Given the description of an element on the screen output the (x, y) to click on. 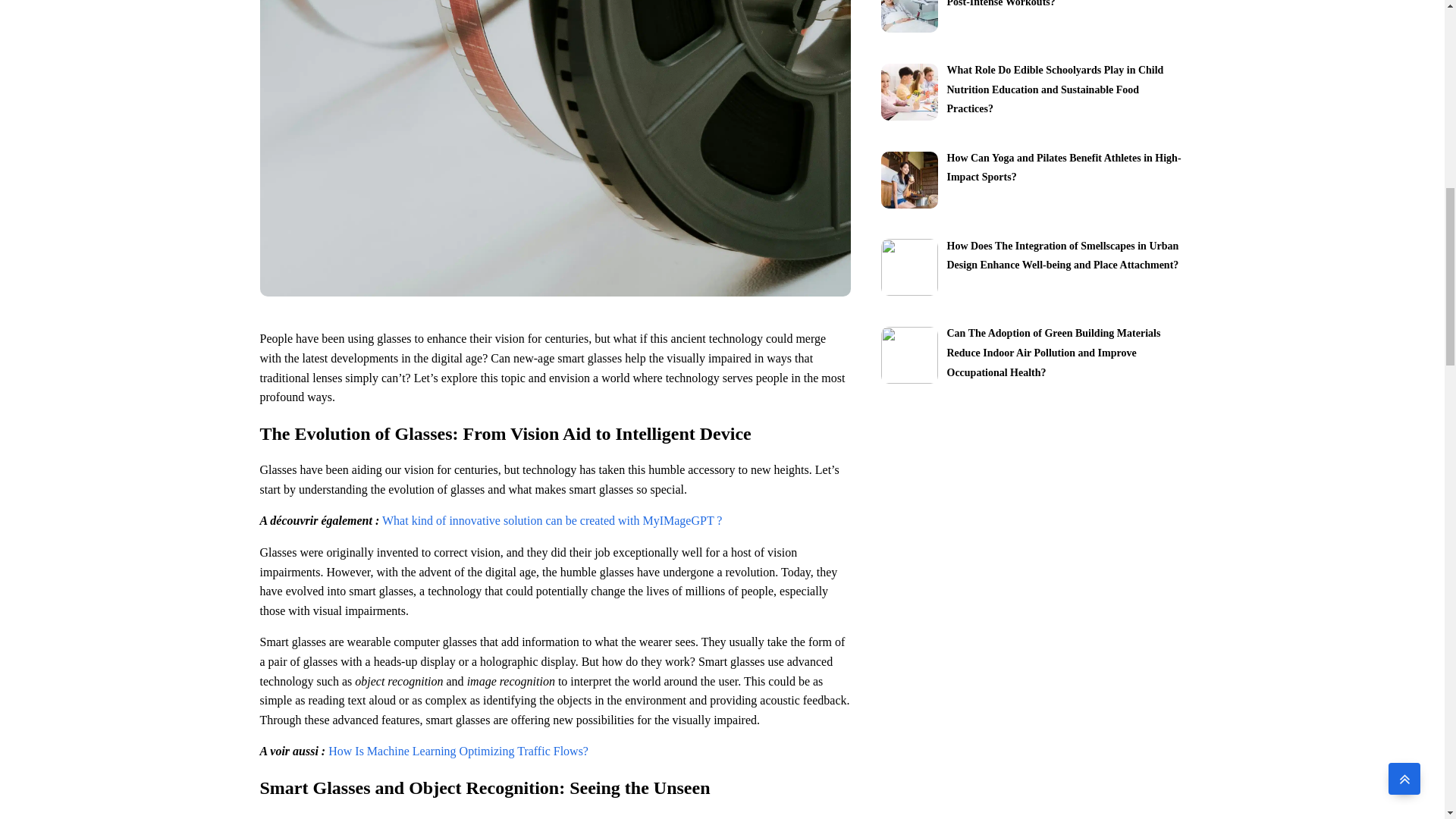
How Is Machine Learning Optimizing Traffic Flows? (458, 750)
How Is Machine Learning Optimizing Traffic Flows? (458, 750)
